Given the description of an element on the screen output the (x, y) to click on. 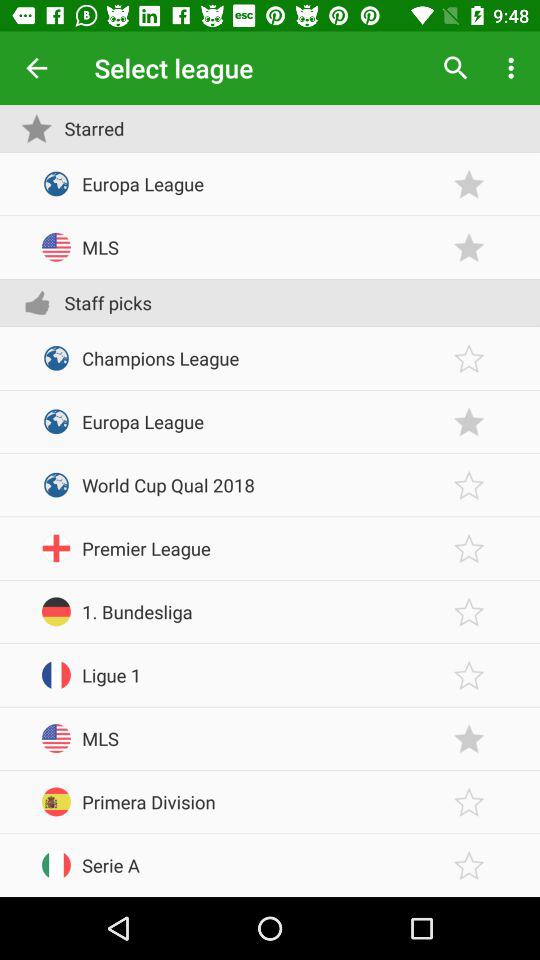
star this selection (469, 738)
